Given the description of an element on the screen output the (x, y) to click on. 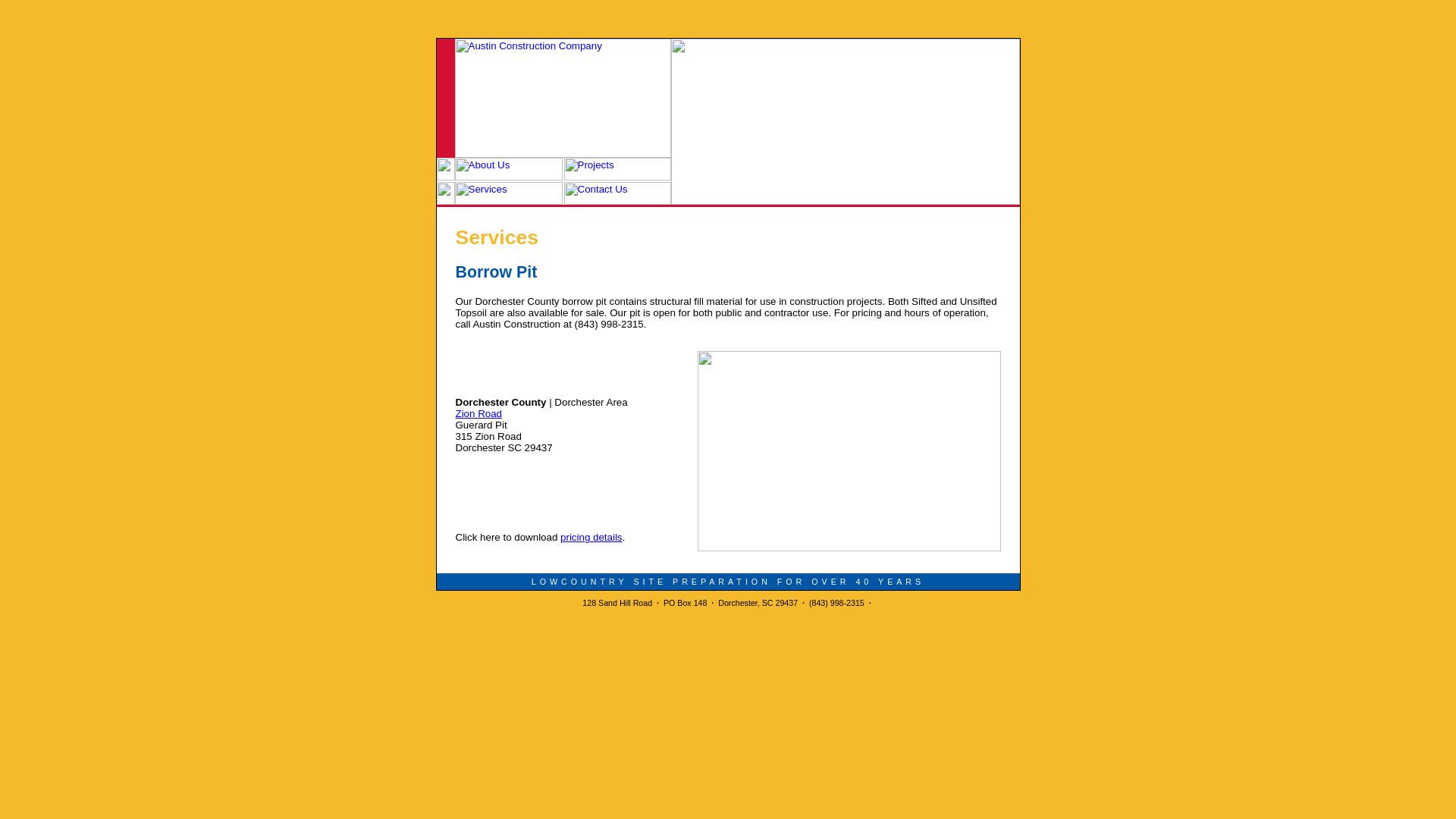
pricing details (591, 536)
Zion Road (478, 413)
